Given the description of an element on the screen output the (x, y) to click on. 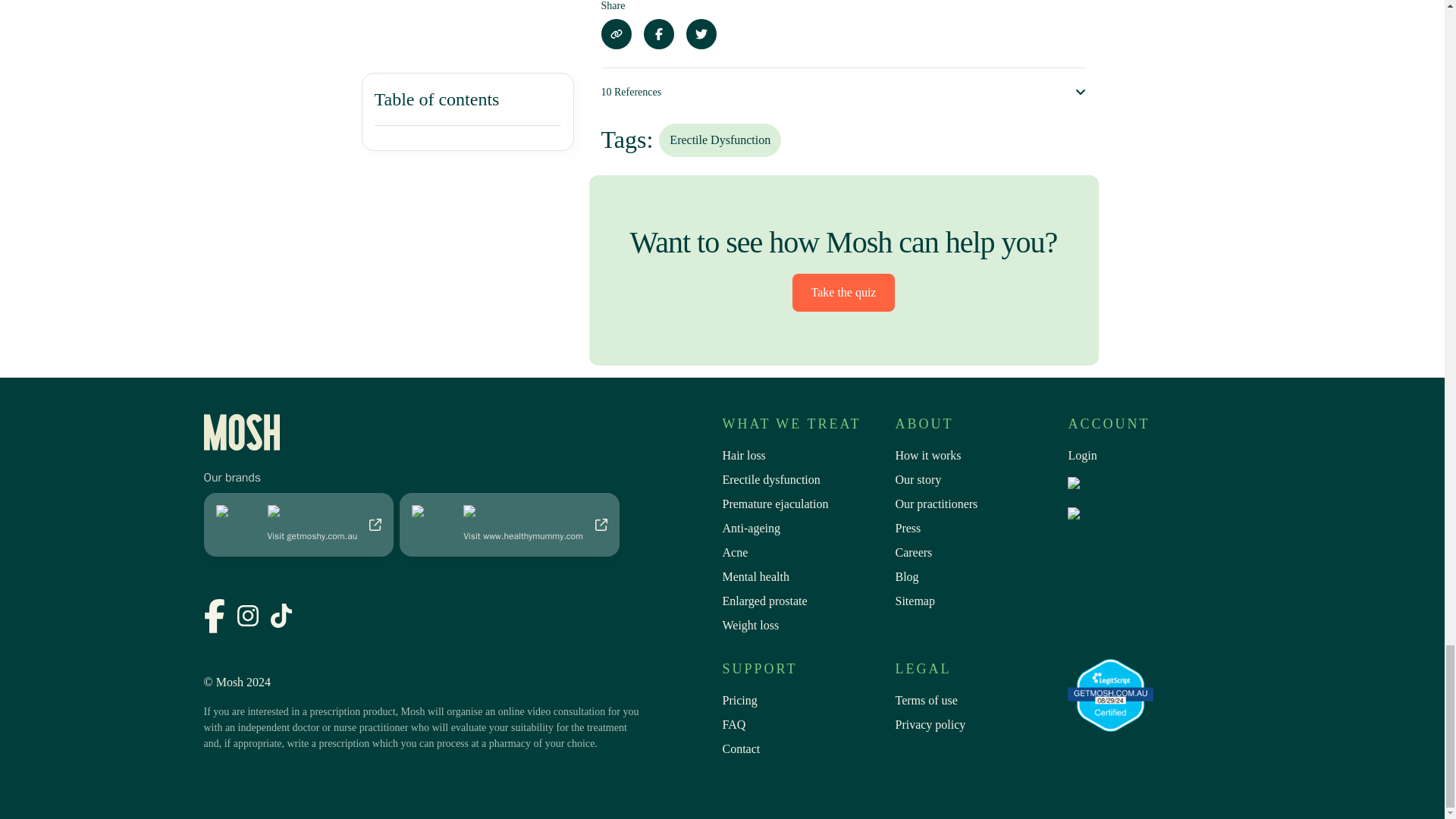
Hair loss (806, 458)
Premature ejaculation (806, 507)
Moshy (298, 521)
THM (509, 521)
Erectile dysfunction (806, 482)
